Given the description of an element on the screen output the (x, y) to click on. 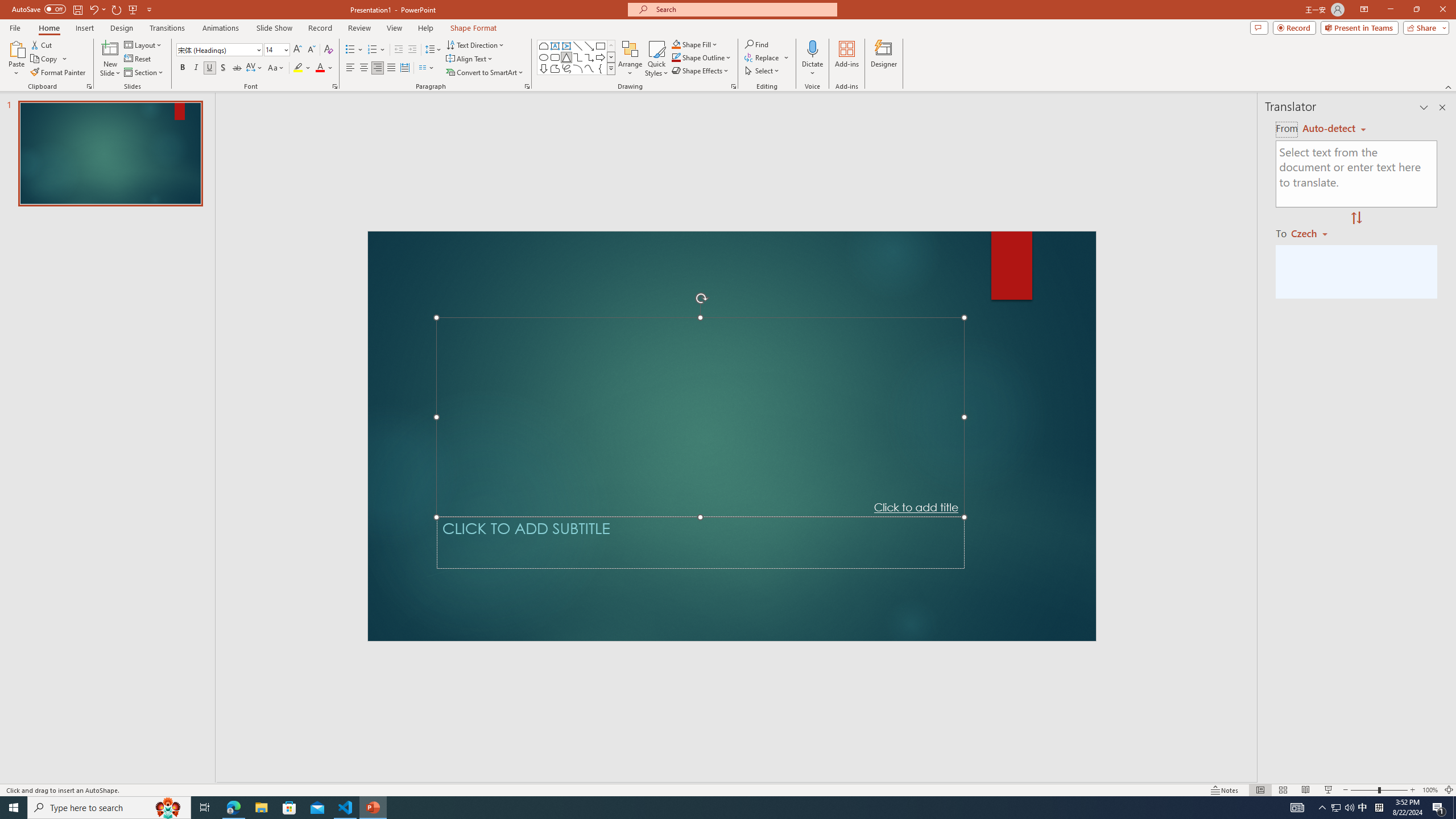
Shape Outline Blue, Accent 1 (675, 56)
